Given the description of an element on the screen output the (x, y) to click on. 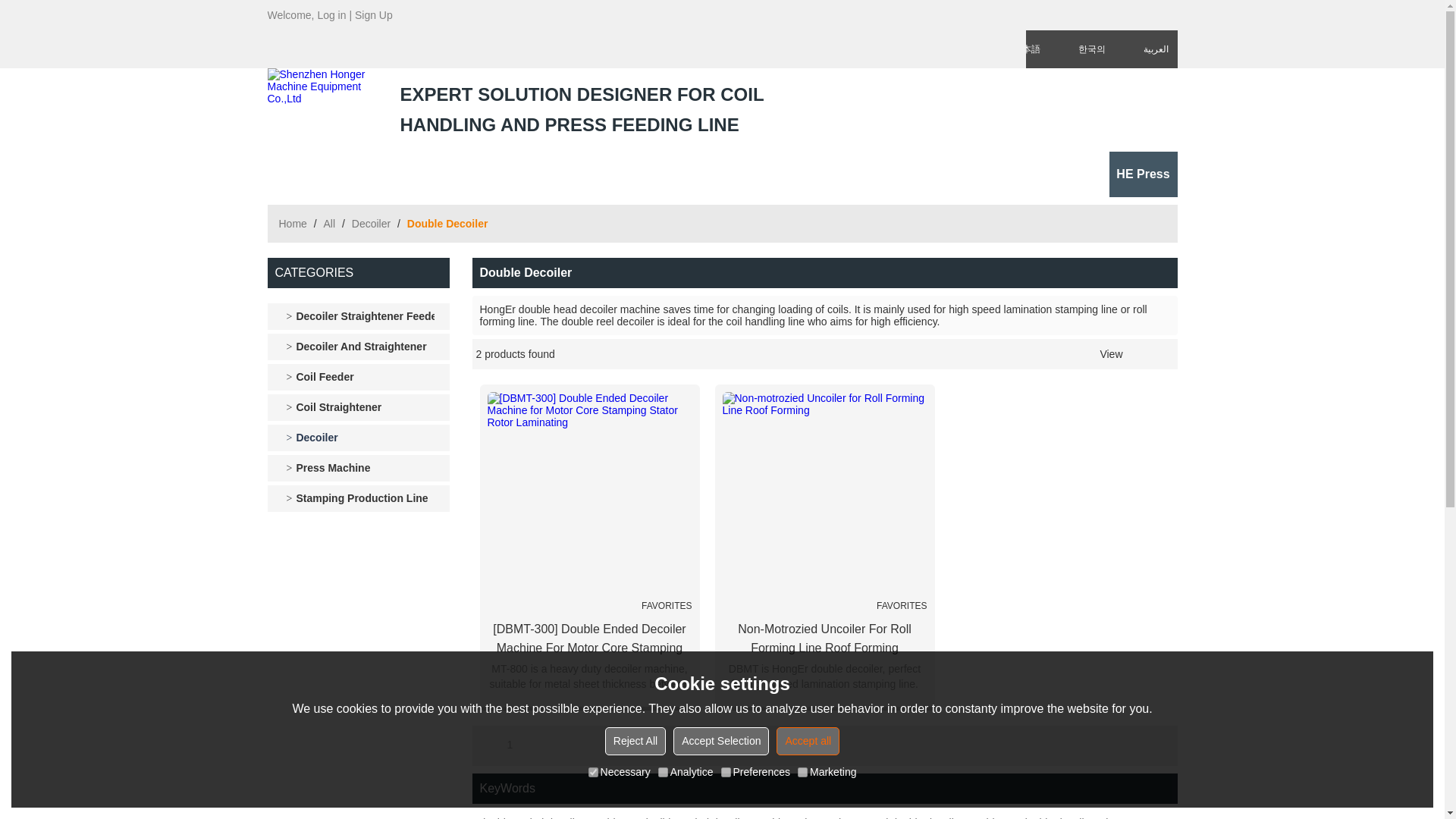
English (971, 15)
on (593, 772)
on (802, 772)
Home (298, 170)
Products (368, 170)
on (663, 772)
Sign Up (374, 15)
Solutions (544, 170)
Service (618, 170)
About HE (695, 170)
